Given the description of an element on the screen output the (x, y) to click on. 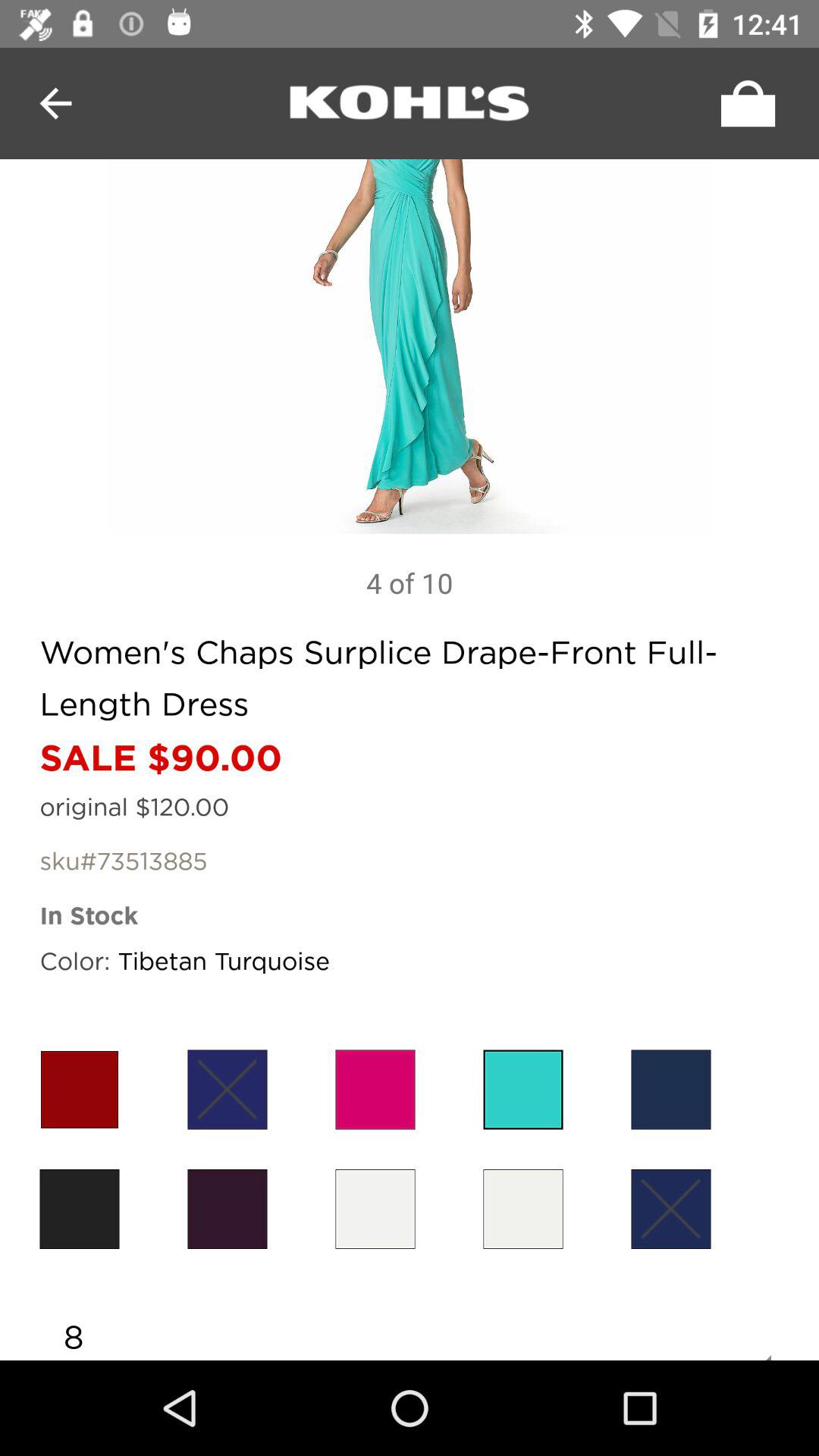
change color to orange (79, 1089)
